Given the description of an element on the screen output the (x, y) to click on. 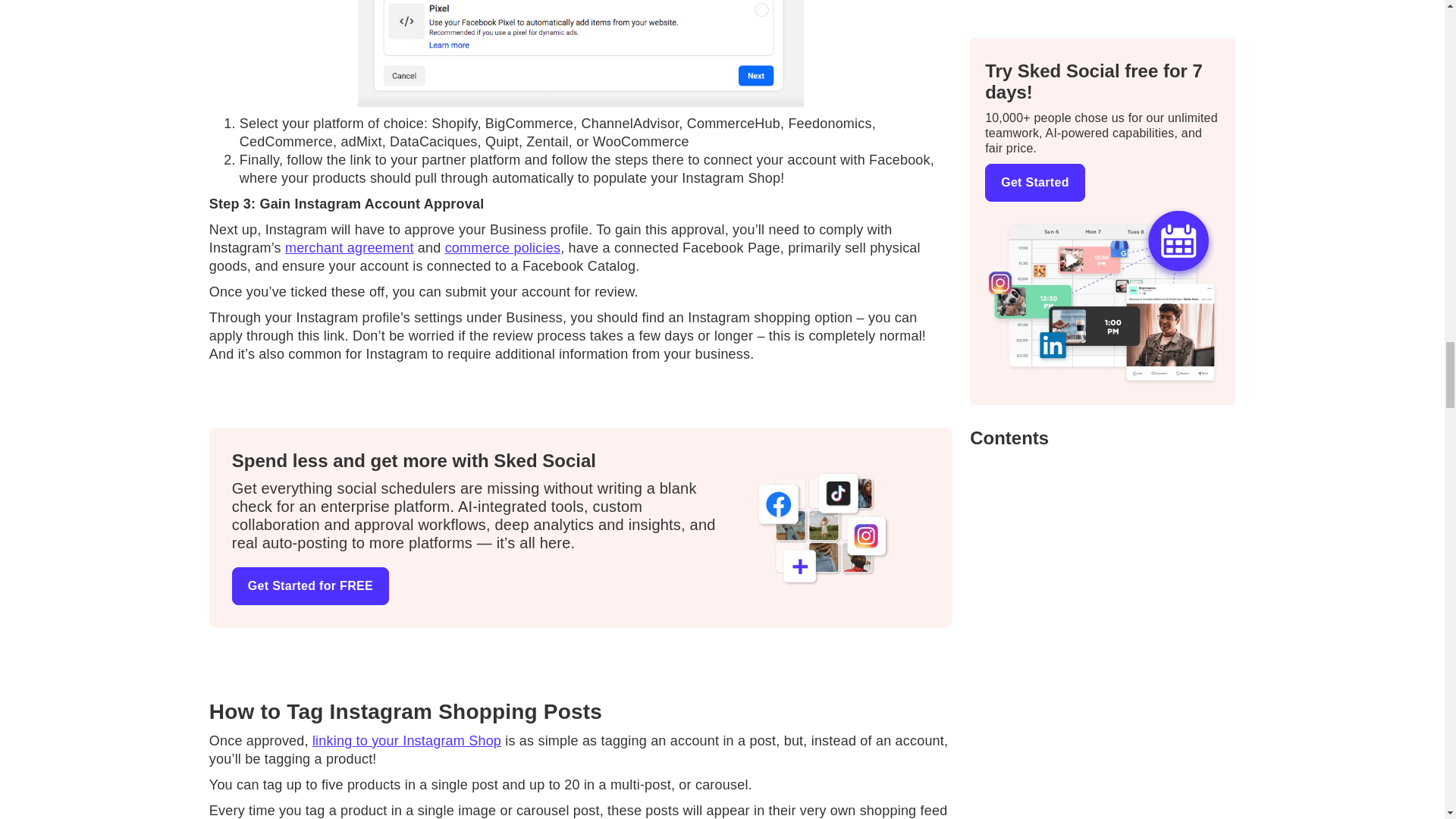
merchant agreement (349, 247)
linking to your Instagram Shop (406, 740)
Get Started for FREE (309, 586)
commerce policies (502, 247)
